Given the description of an element on the screen output the (x, y) to click on. 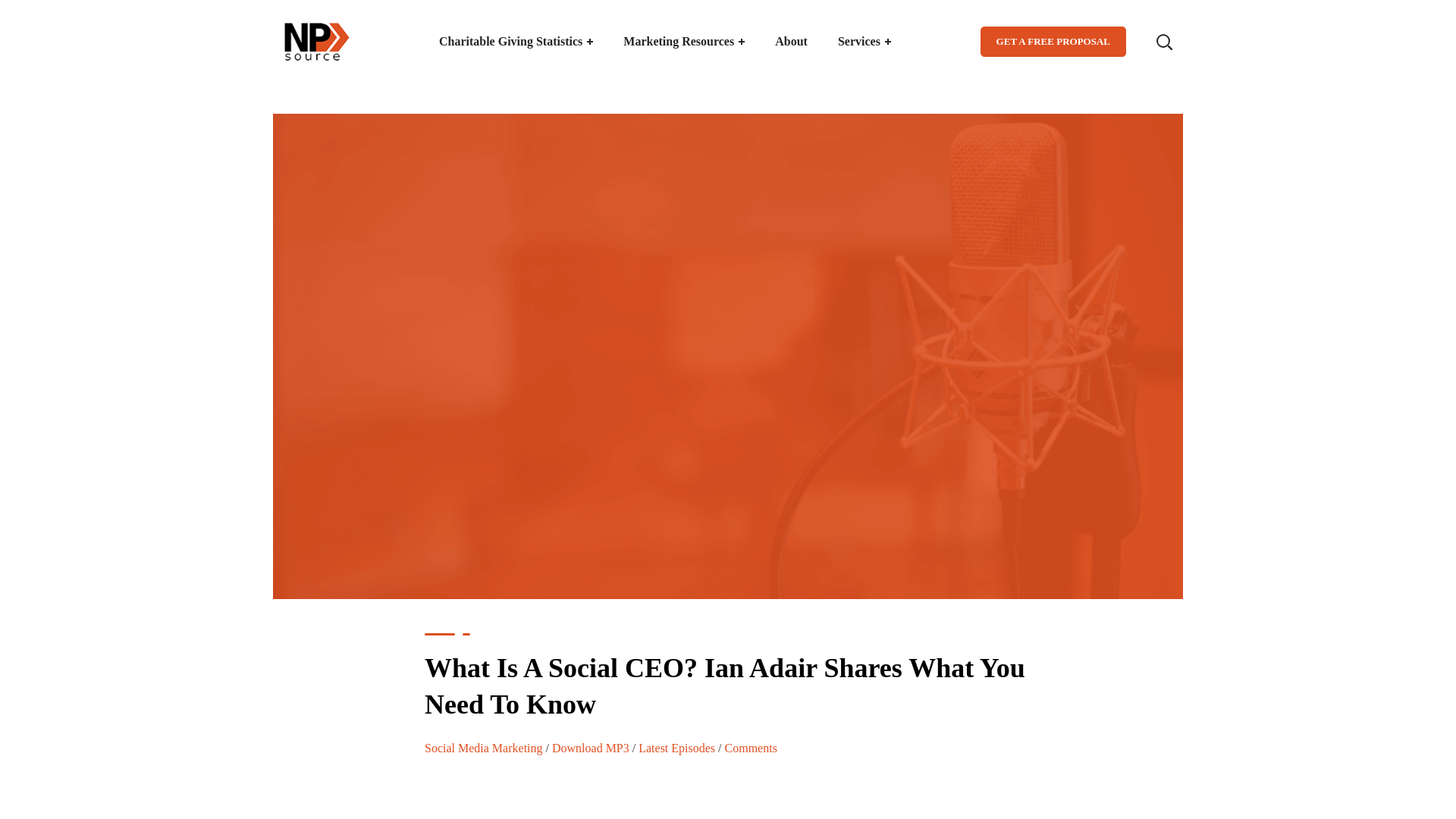
Marketing Resources (684, 41)
GET A FREE PROPOSAL (1052, 41)
Charitable Giving Statistics (515, 41)
Search (1116, 113)
Services (863, 41)
